Given the description of an element on the screen output the (x, y) to click on. 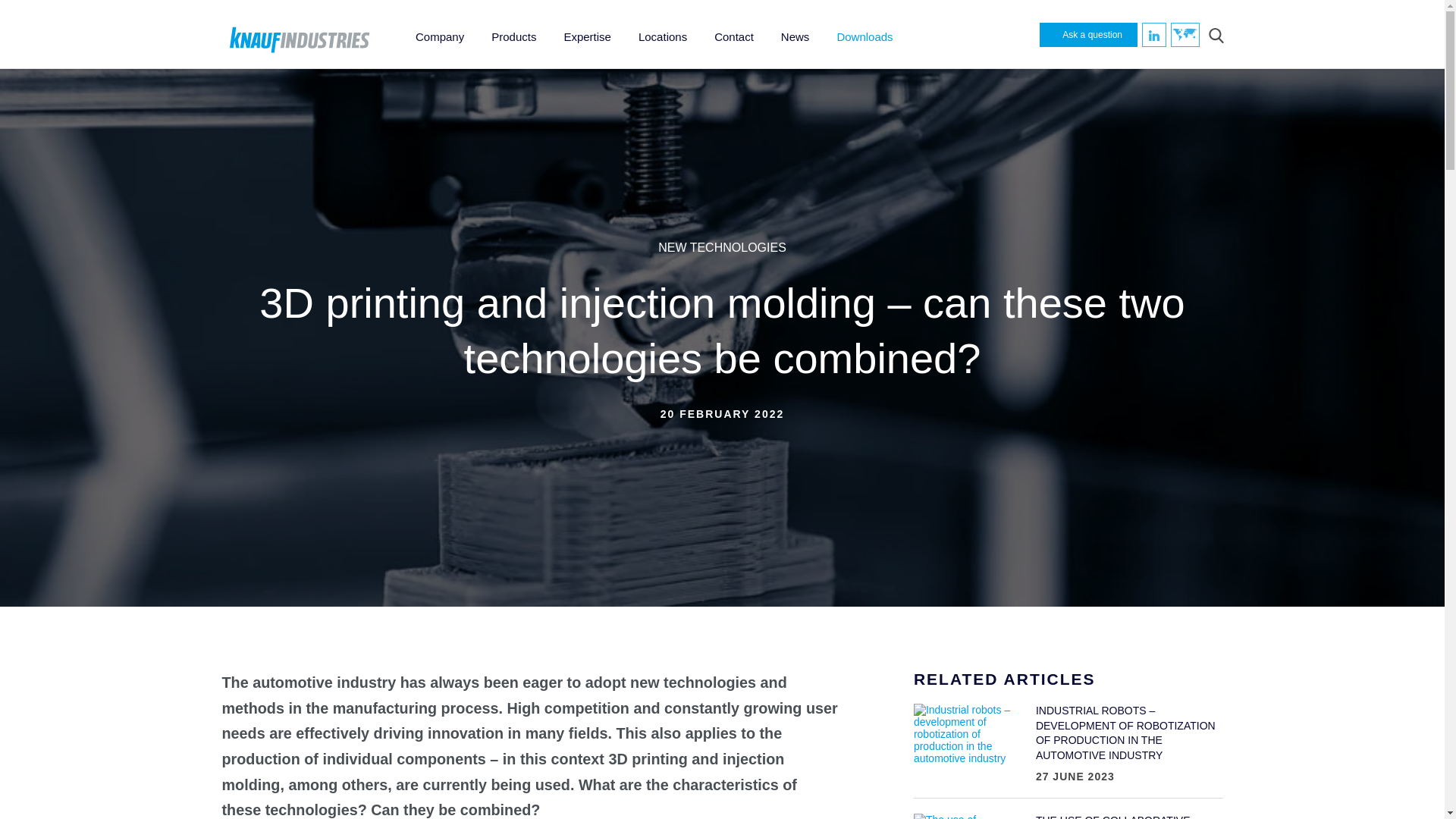
Products (513, 33)
Home - Knauf Automotive (299, 41)
Company (439, 33)
Expertise (587, 33)
Contact (733, 33)
Locations (662, 33)
